Given the description of an element on the screen output the (x, y) to click on. 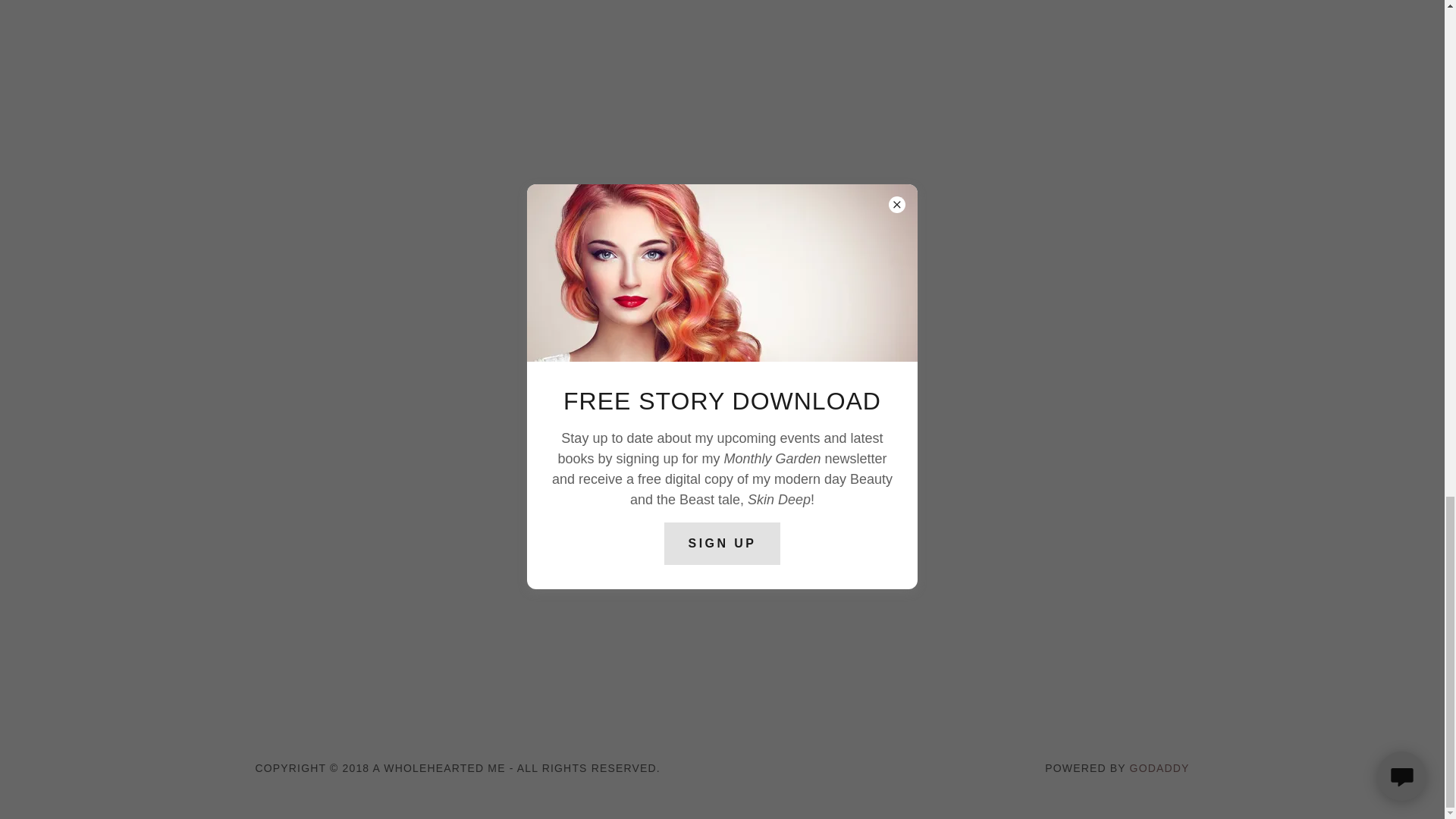
GODADDY (1159, 767)
